Given the description of an element on the screen output the (x, y) to click on. 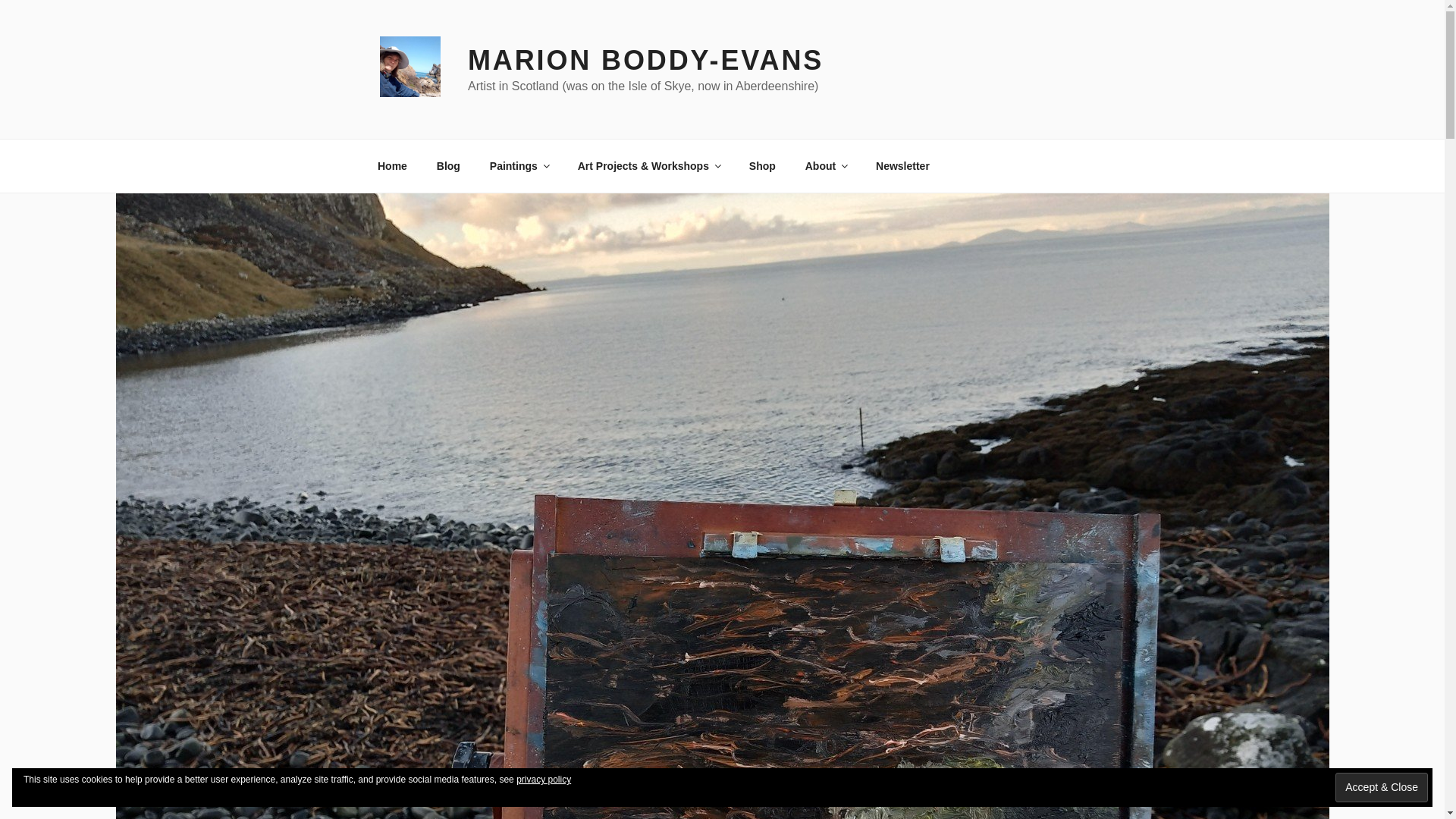
MARION BODDY-EVANS (645, 60)
Paintings (518, 165)
Blog (448, 165)
About (825, 165)
Home (392, 165)
Shop (762, 165)
